Given the description of an element on the screen output the (x, y) to click on. 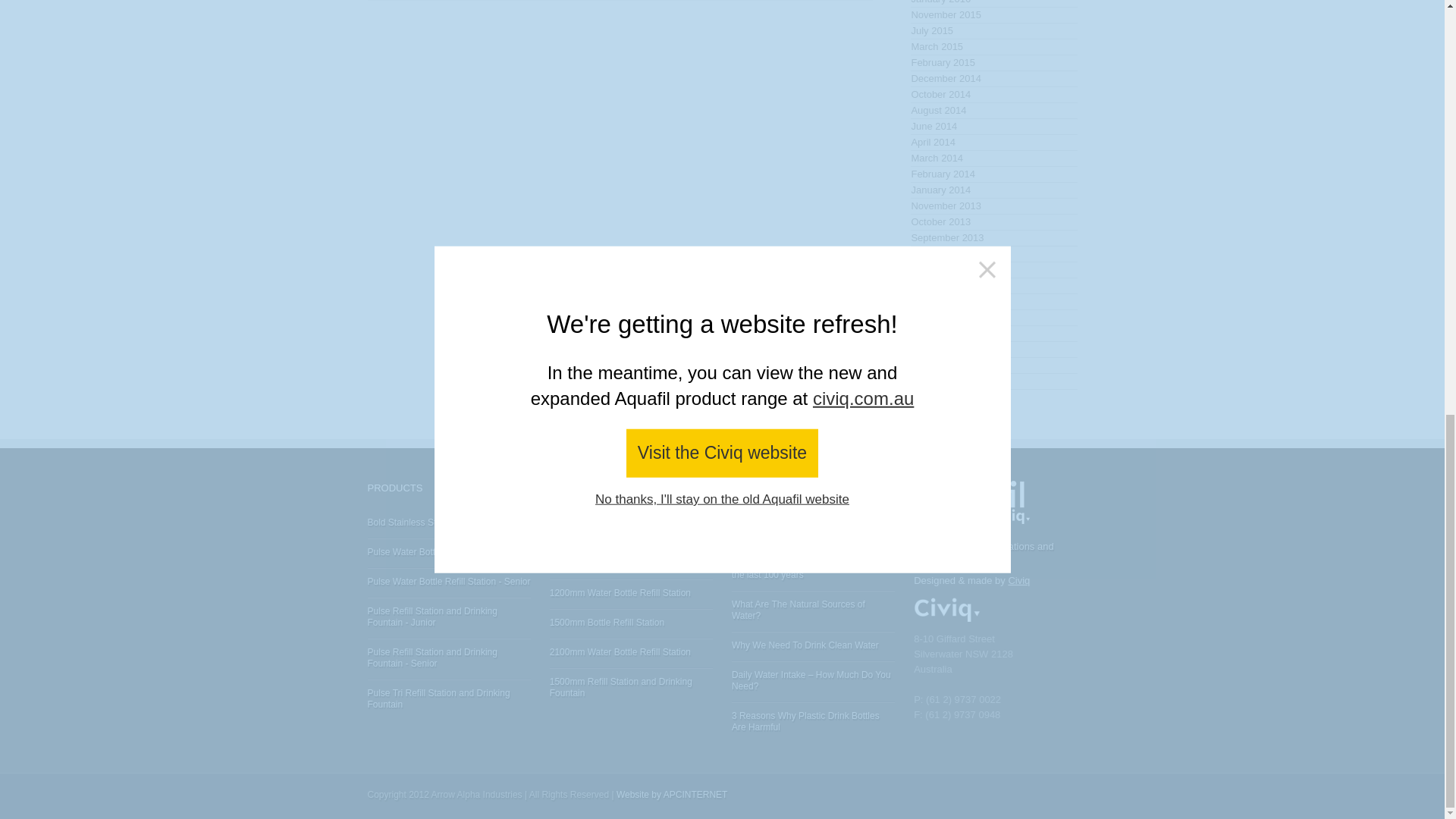
Look 1500mm Refill Station and Drinking Fountain (621, 687)
Look What Are The Natural Sources of Water? (798, 609)
Look Pulse Water Bottle Refill Station - Junior (447, 552)
Look 2100mm Water Bottle Refill Station (620, 652)
Look 1500mm Bottle Refill Station (606, 622)
Look Pulse Refill Station and Drinking Fountain - Junior (431, 617)
Look Pulse Tri Refill Station and Drinking Fountain (437, 698)
Look A1 Refill Station with Water Bubbler (622, 521)
Look 1200mm Water Bottle Refill Station (620, 593)
Look Pulse Water Bottle Refill Station - Senior (447, 581)
Look How drinking water has improved over the last 100 years (809, 568)
Look Pulse Refill Station and Drinking Fountain - Senior (431, 658)
Look Bold Stainless Steel Refill Station (433, 521)
